Given the description of an element on the screen output the (x, y) to click on. 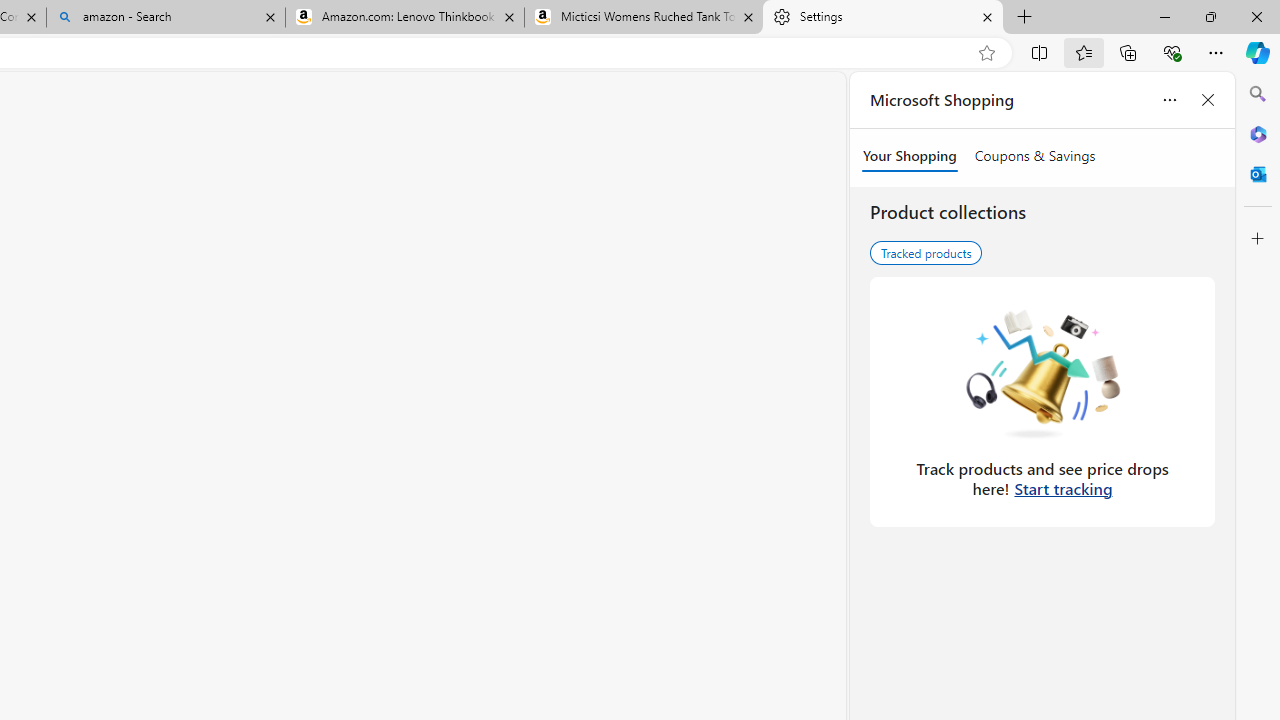
Outlook (1258, 174)
amazon - Search (166, 17)
